Given the description of an element on the screen output the (x, y) to click on. 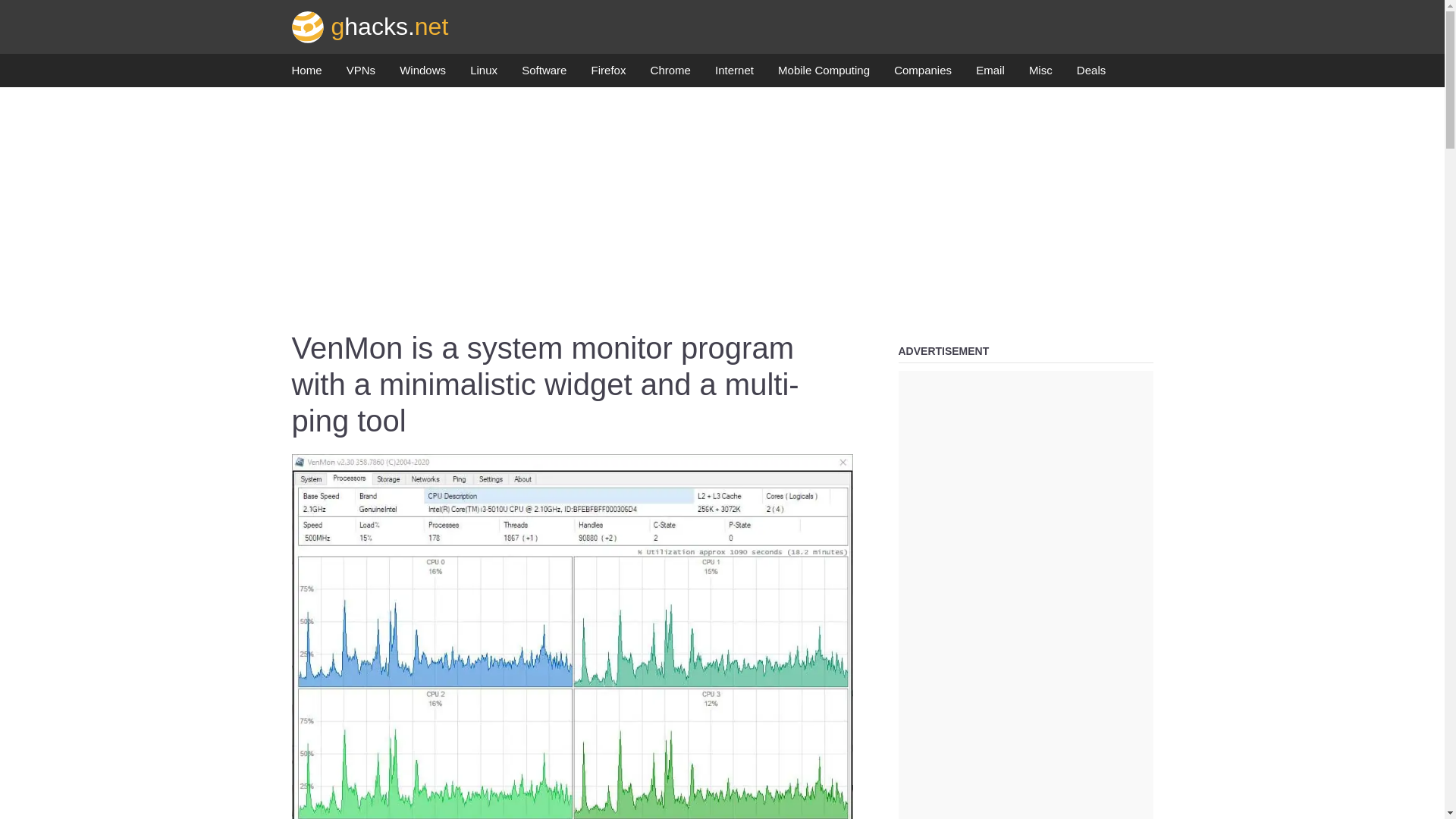
Chrome (670, 73)
Misc (1040, 73)
Software (543, 73)
Windows (421, 73)
Internet (734, 73)
Home (306, 73)
ghacks.net (369, 26)
Email (989, 73)
Companies (922, 73)
Linux (483, 73)
